Given the description of an element on the screen output the (x, y) to click on. 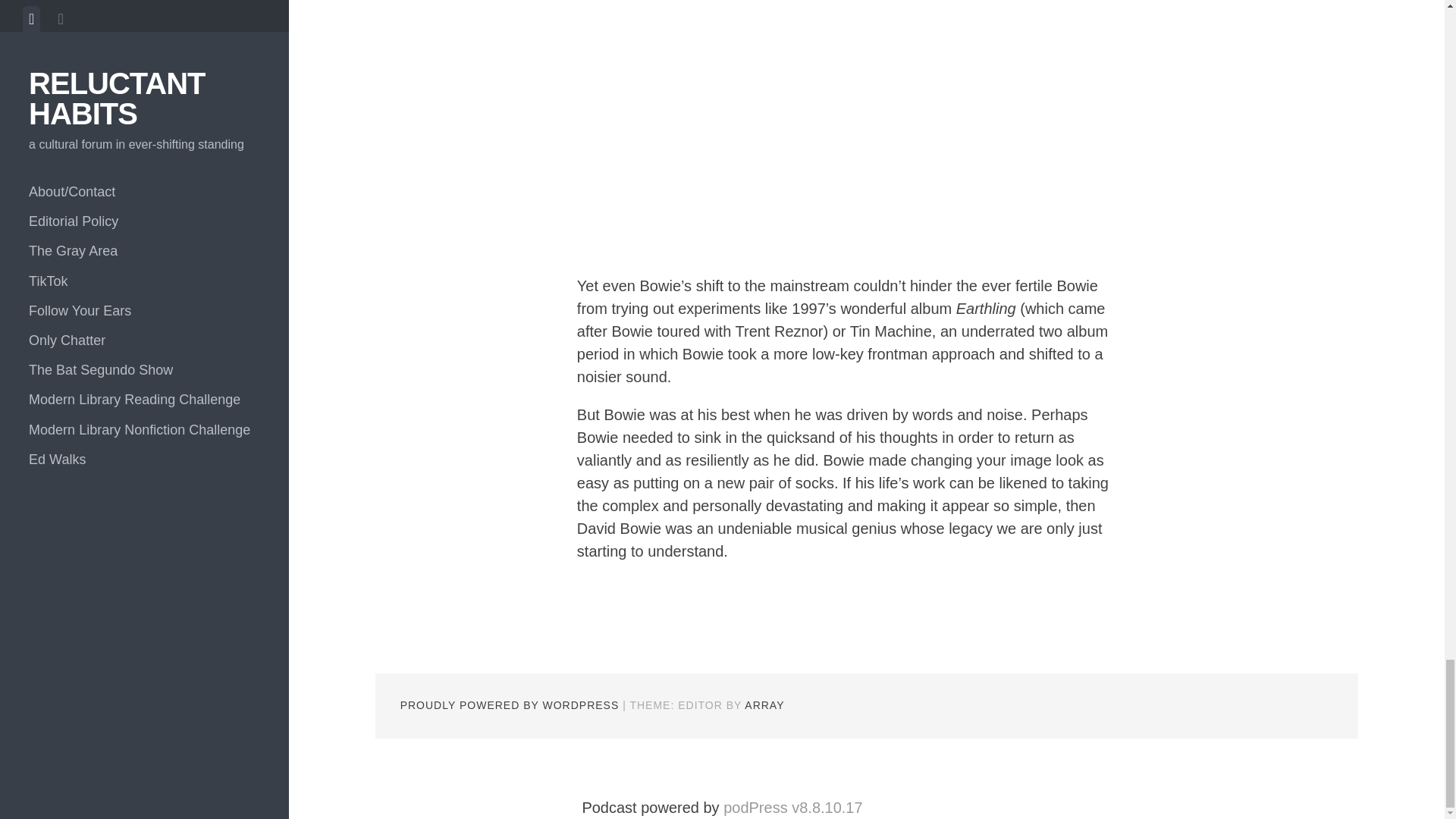
podPress, a plugin for podcasting with WordPress (792, 807)
